Given the description of an element on the screen output the (x, y) to click on. 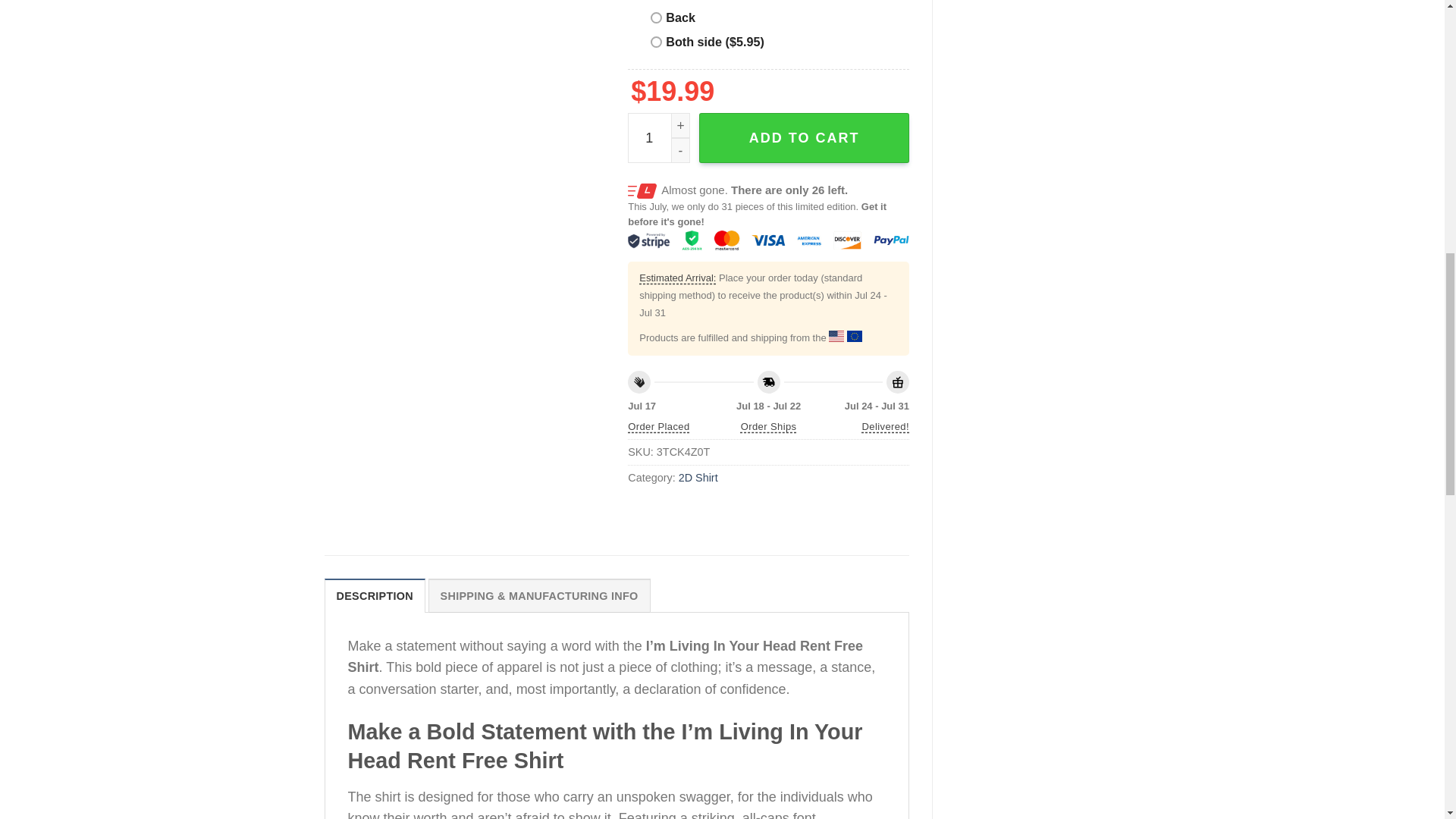
- (680, 150)
1 (658, 137)
